Given the description of an element on the screen output the (x, y) to click on. 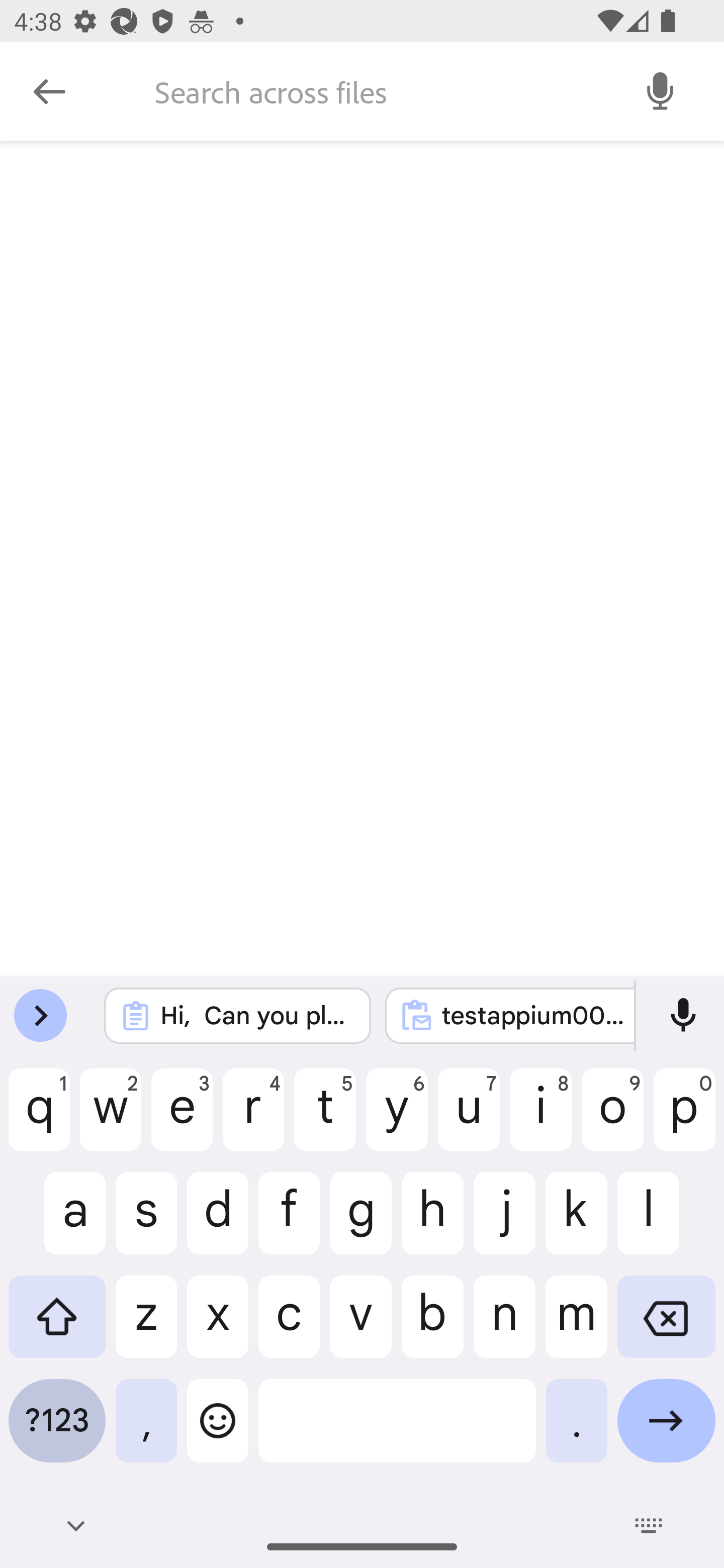
Navigate up (49, 91)
Voice search (660, 90)
Search across files (375, 91)
